Given the description of an element on the screen output the (x, y) to click on. 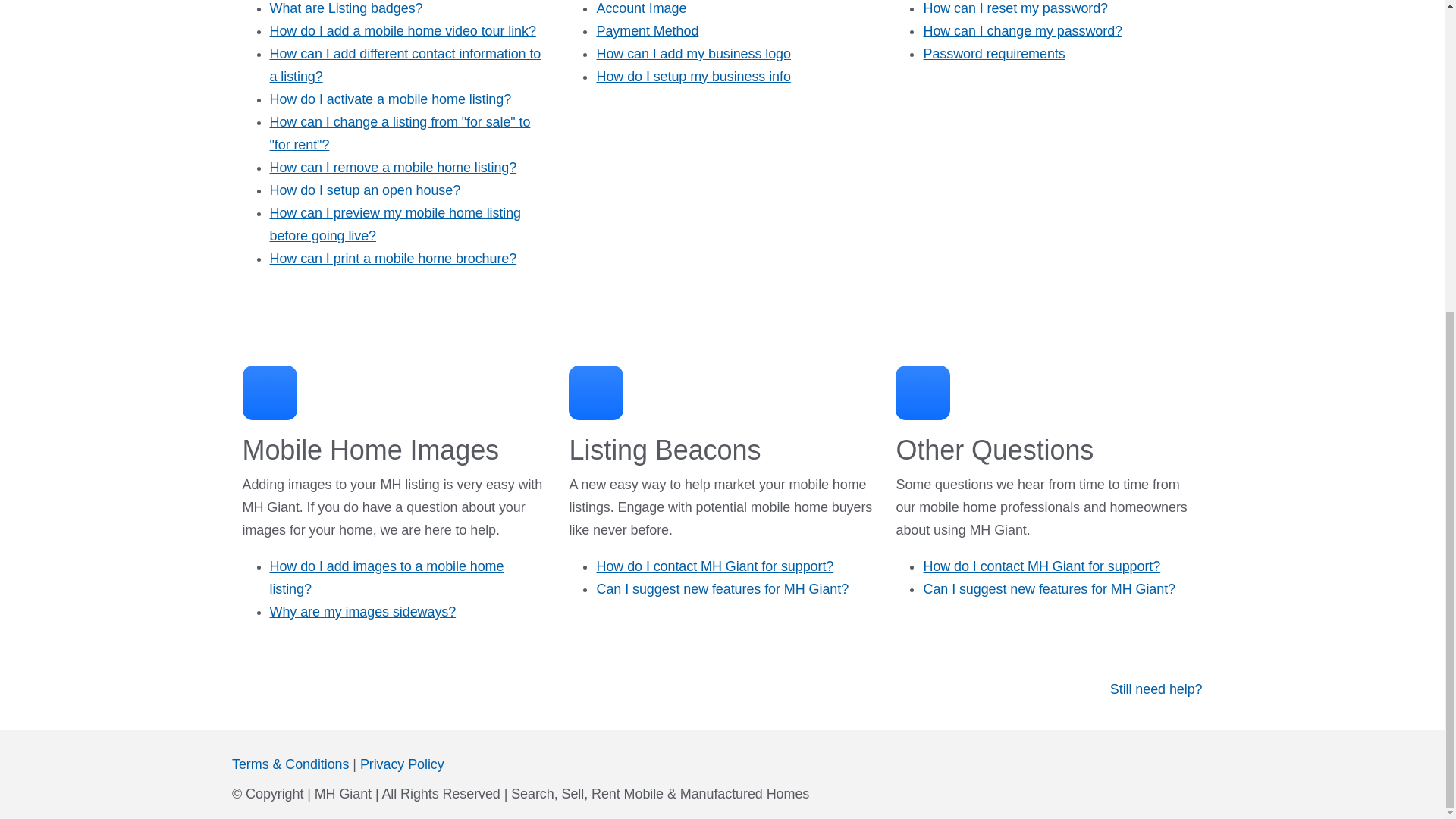
How can I change a listing from "for sale" to "for rent"? (400, 133)
How can I add different contact information to a listing? (405, 64)
How do I contact MH Giant for support? (713, 566)
How can I remove a mobile home listing? (392, 167)
How do I contact MH Giant for support? (1041, 566)
How do I activate a mobile home listing? (390, 99)
Still need help? (1155, 688)
How can I add my business logo (692, 53)
Password requirements (993, 53)
Payment Method (646, 30)
